Given the description of an element on the screen output the (x, y) to click on. 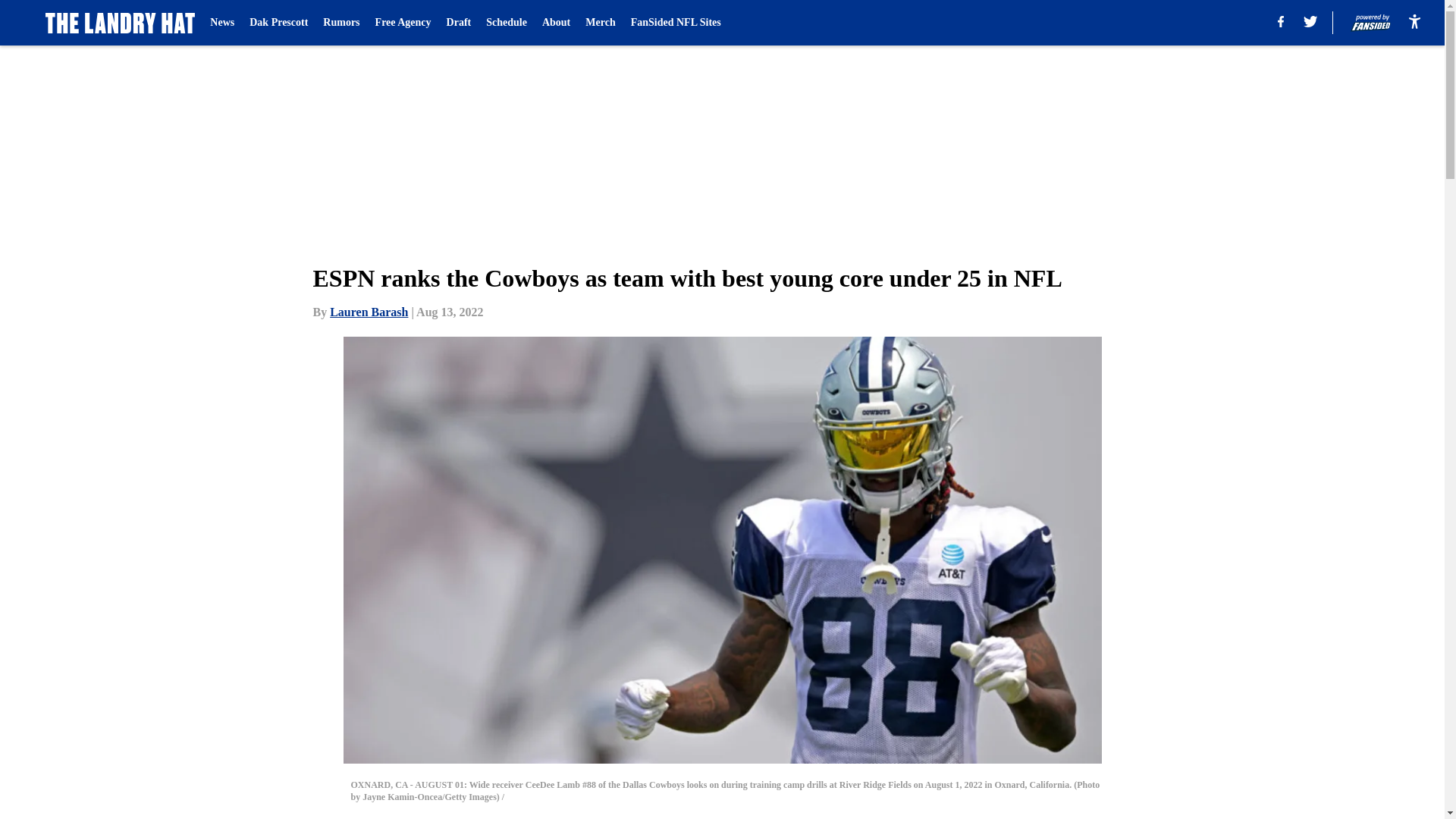
News (221, 22)
Draft (458, 22)
Dak Prescott (277, 22)
Rumors (341, 22)
Lauren Barash (368, 311)
Schedule (506, 22)
About (555, 22)
Merch (599, 22)
Free Agency (402, 22)
FanSided NFL Sites (675, 22)
